Given the description of an element on the screen output the (x, y) to click on. 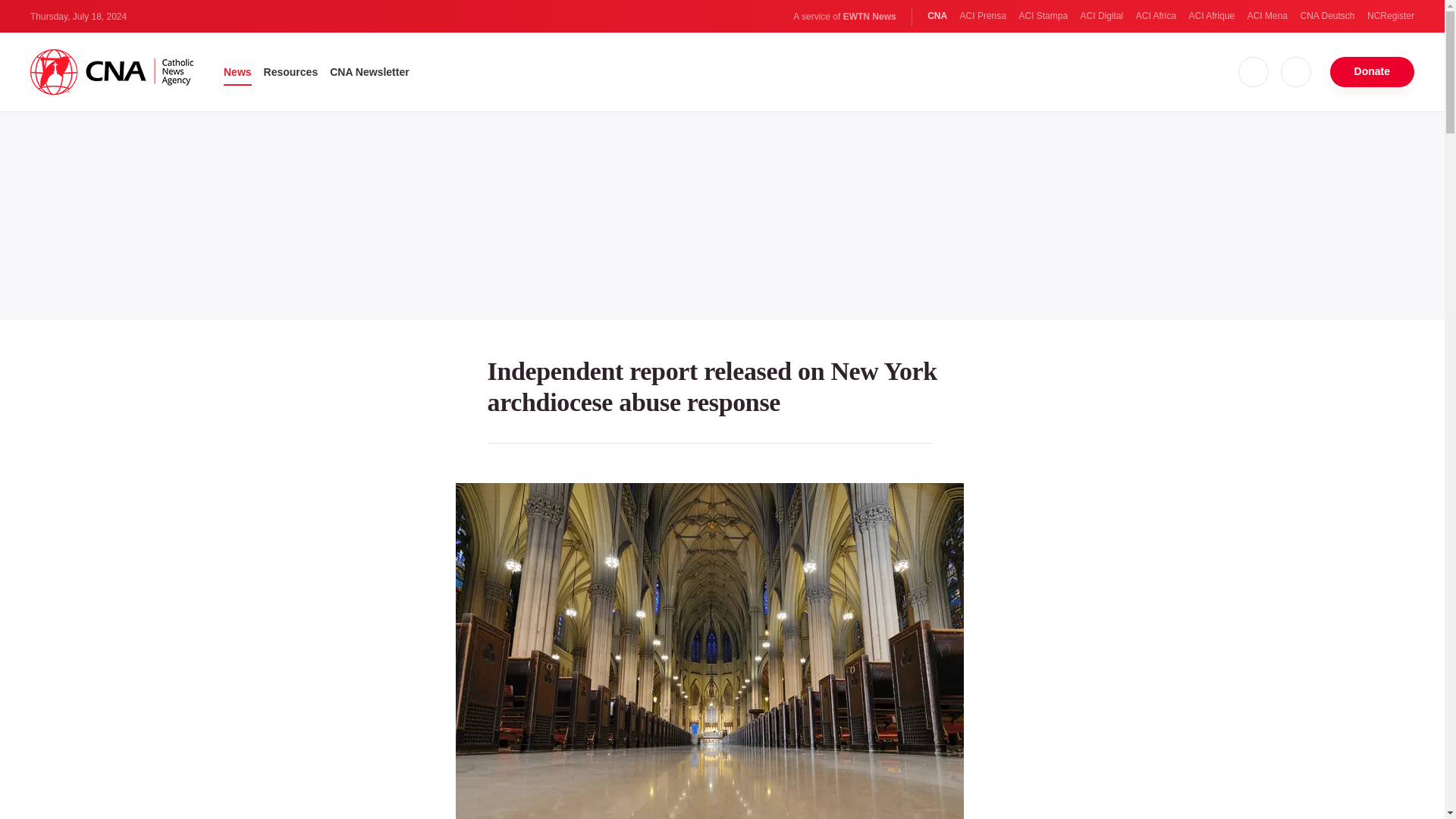
News (237, 71)
CNA (937, 16)
Resources (290, 71)
ACI Africa (1155, 16)
ACI Prensa (982, 16)
EWTN News (869, 16)
ACI Stampa (1042, 16)
EWTN News (869, 16)
CNA Deutsch (1327, 16)
ACI Mena (1267, 16)
ACI Digital (1102, 16)
NCRegister (1390, 16)
ACI Afrique (1211, 16)
